Given the description of an element on the screen output the (x, y) to click on. 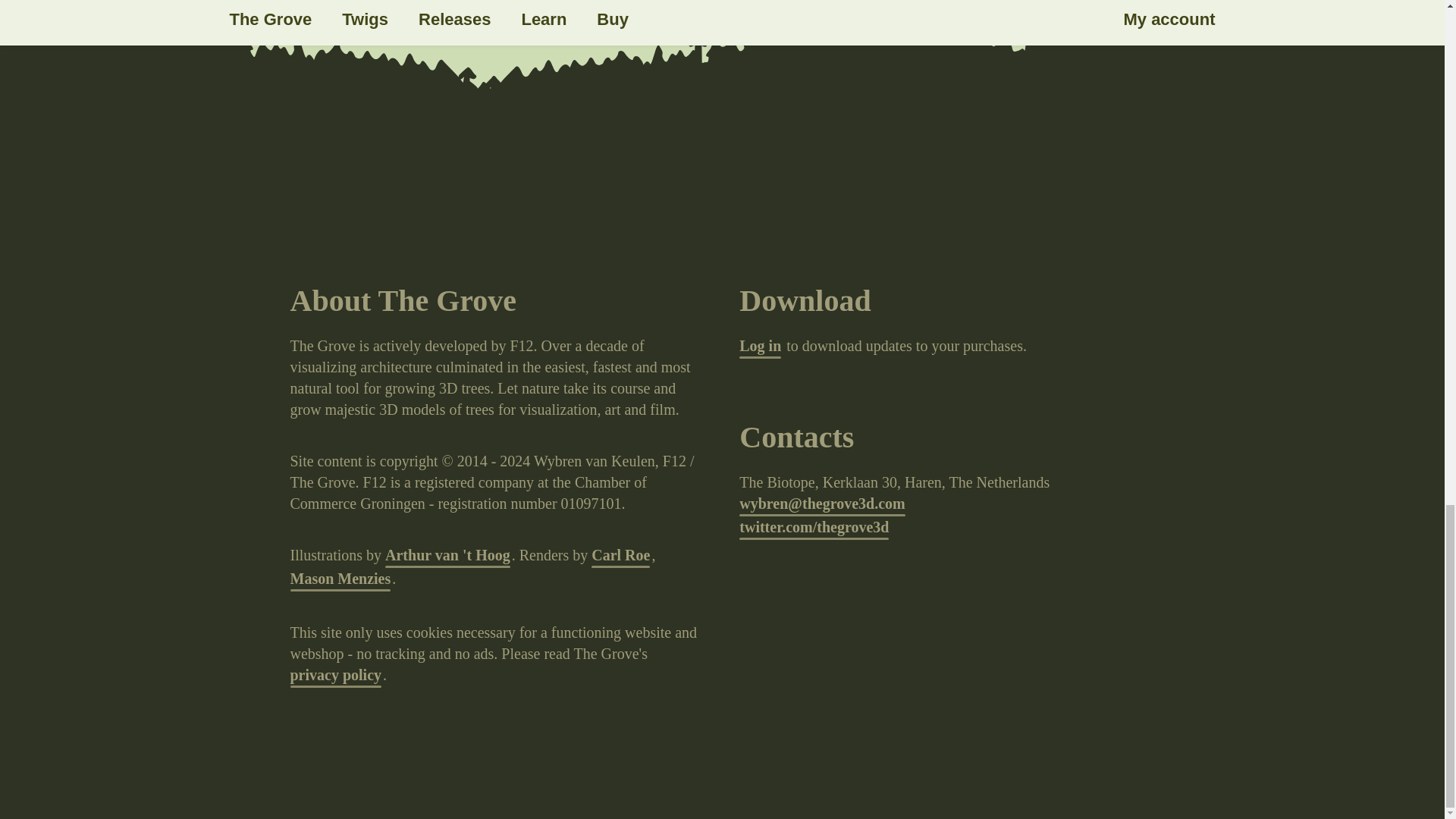
Mason Menzies (339, 579)
Arthur van 't Hoog (448, 556)
privacy policy (335, 675)
Log in (759, 346)
Carl Roe (620, 556)
